Given the description of an element on the screen output the (x, y) to click on. 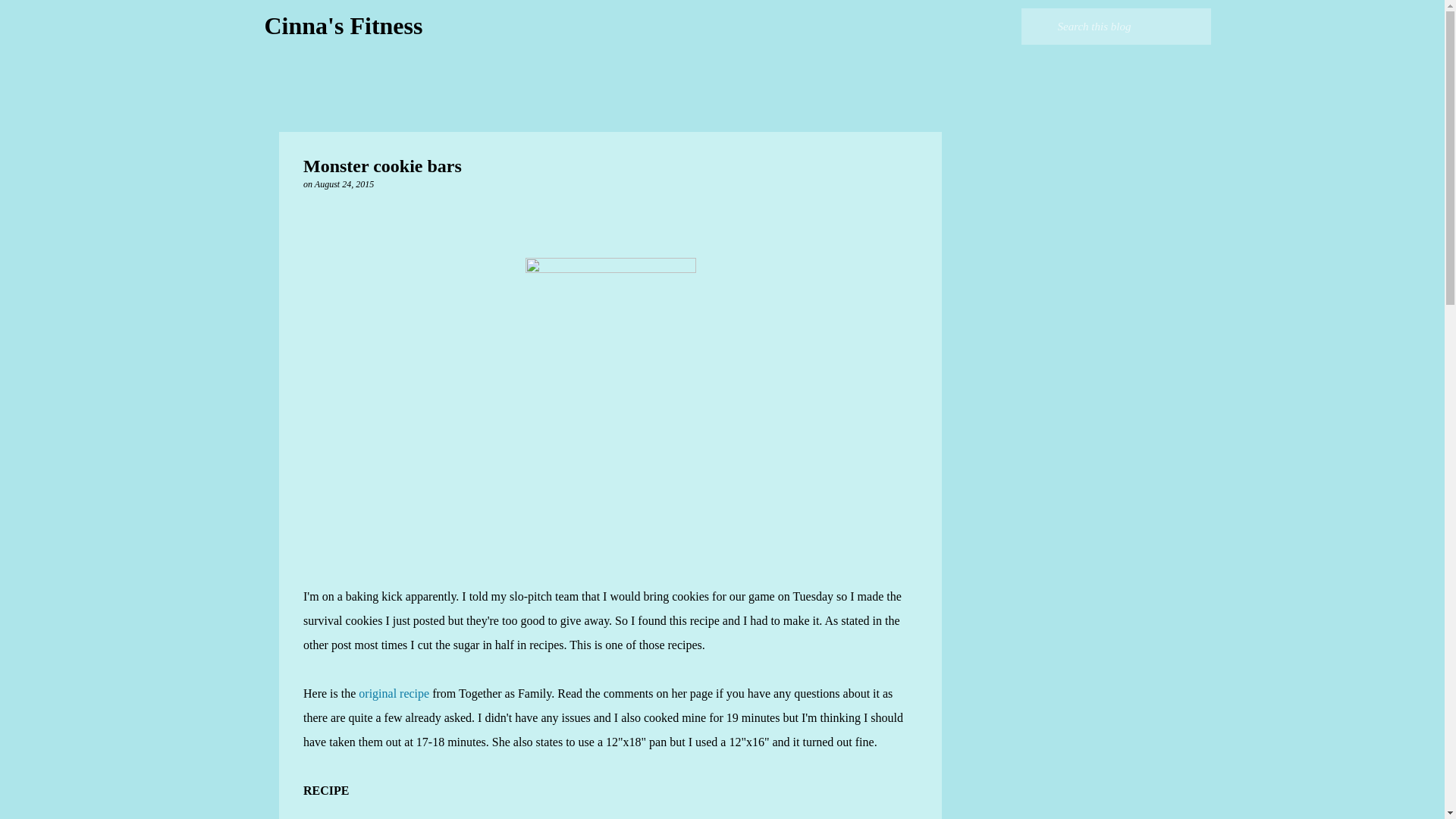
Cinna's Fitness (342, 25)
original recipe (393, 693)
August 24, 2015 (344, 184)
permanent link (344, 184)
